Given the description of an element on the screen output the (x, y) to click on. 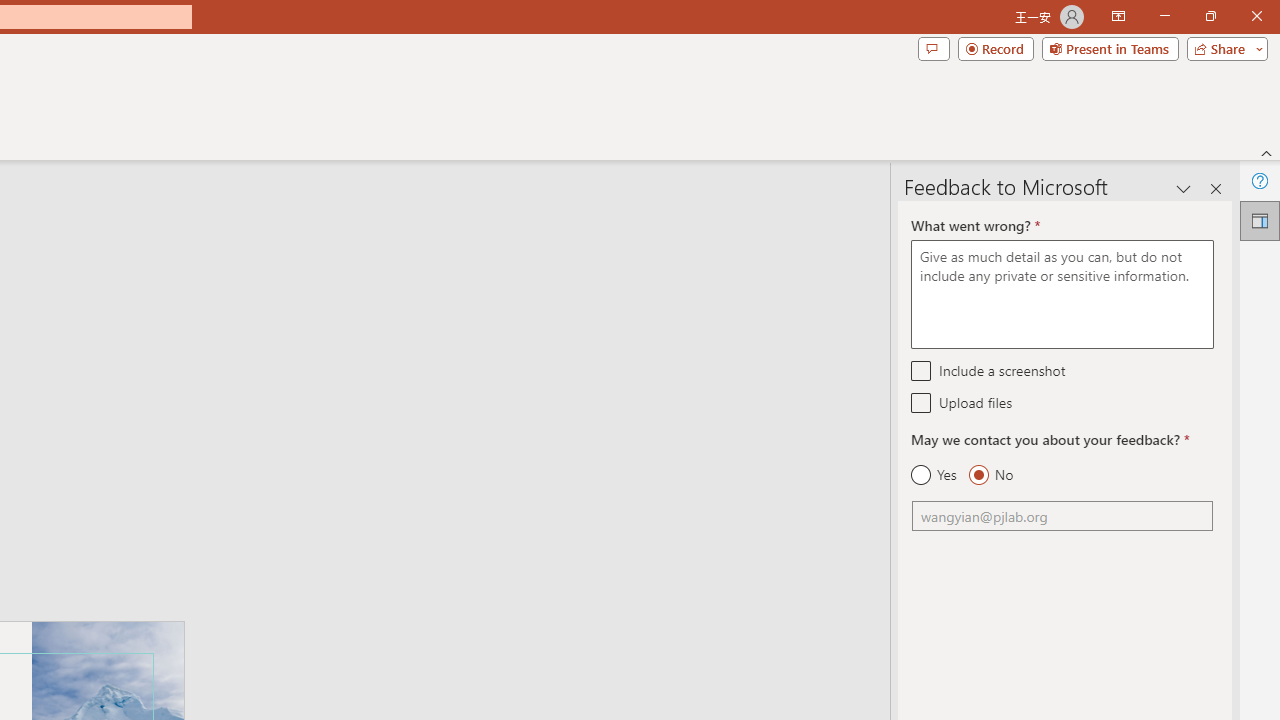
Share (1223, 48)
Email (1062, 516)
Present in Teams (1109, 48)
Collapse the Ribbon (1267, 152)
Yes (934, 475)
